Given the description of an element on the screen output the (x, y) to click on. 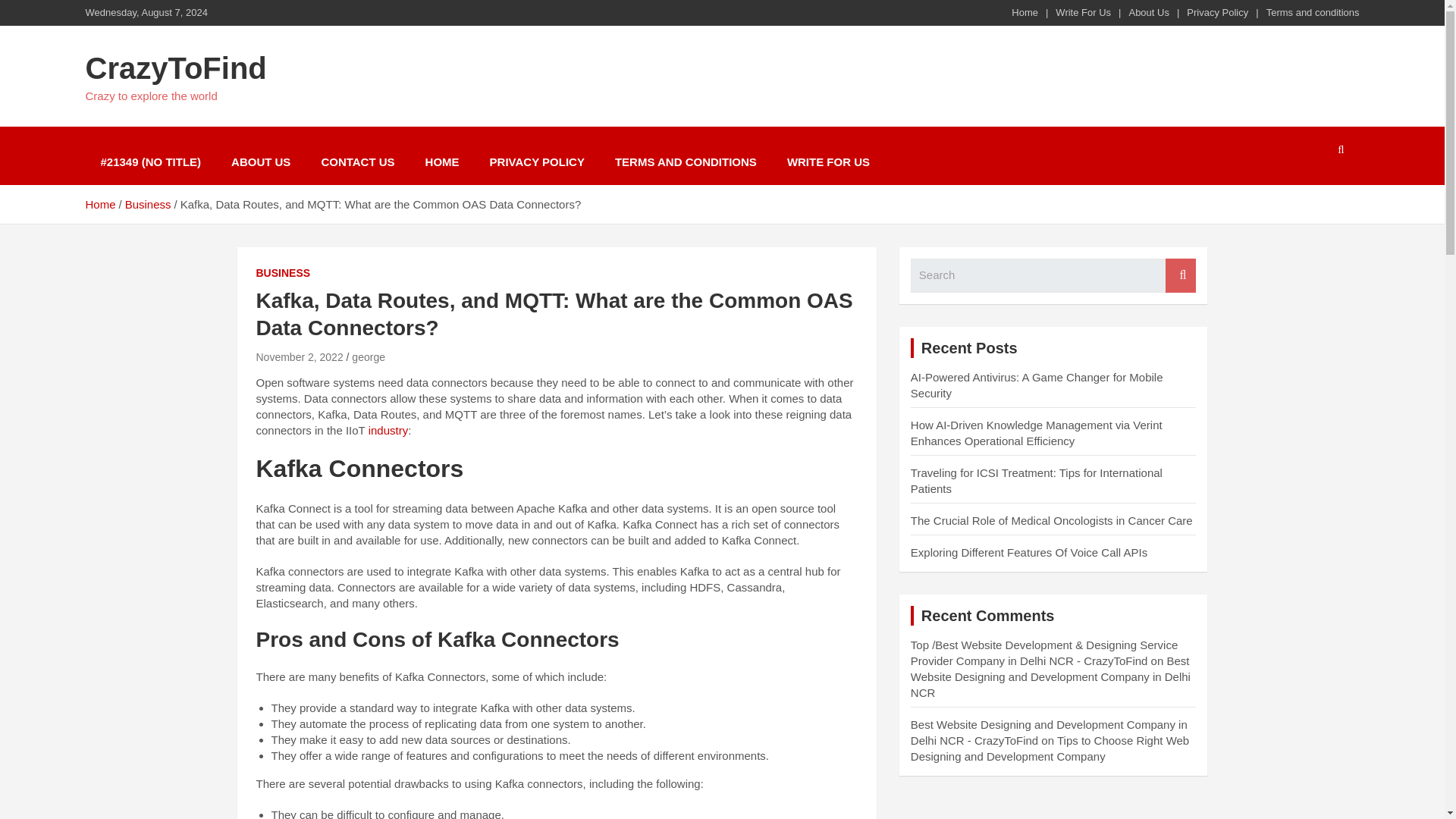
About Us (1148, 12)
The Crucial Role of Medical Oncologists in Cancer Care (1051, 520)
Privacy Policy (1216, 12)
CONTACT US (357, 161)
HOME (442, 161)
Business (148, 204)
November 2, 2022 (299, 357)
BUSINESS (283, 273)
